Given the description of an element on the screen output the (x, y) to click on. 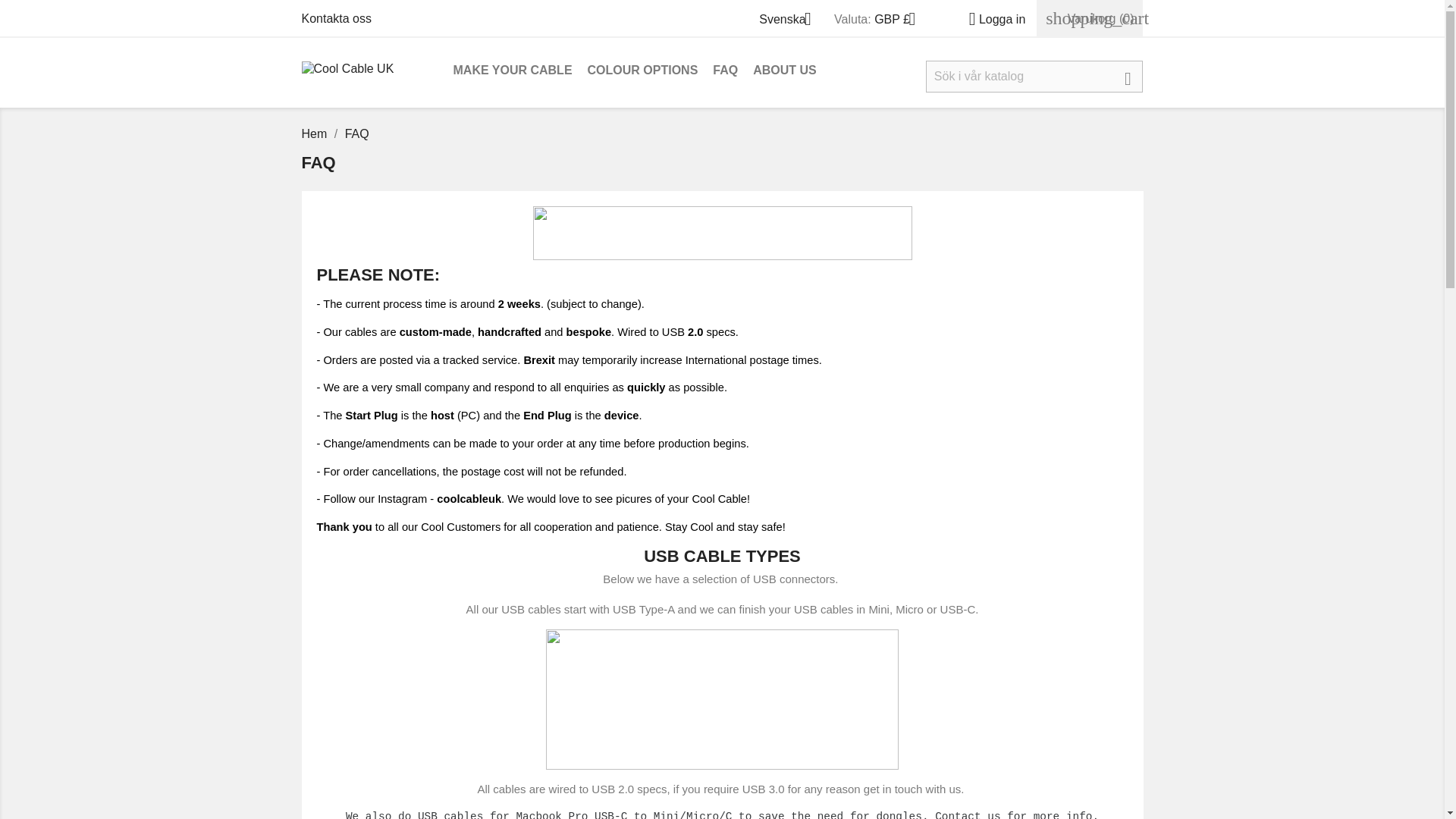
COLOUR OPTIONS (642, 71)
FAQ (357, 133)
Hem (315, 133)
MAKE YOUR CABLE (512, 71)
FAQ (724, 71)
ABOUT US (784, 71)
Kontakta oss (336, 18)
